Given the description of an element on the screen output the (x, y) to click on. 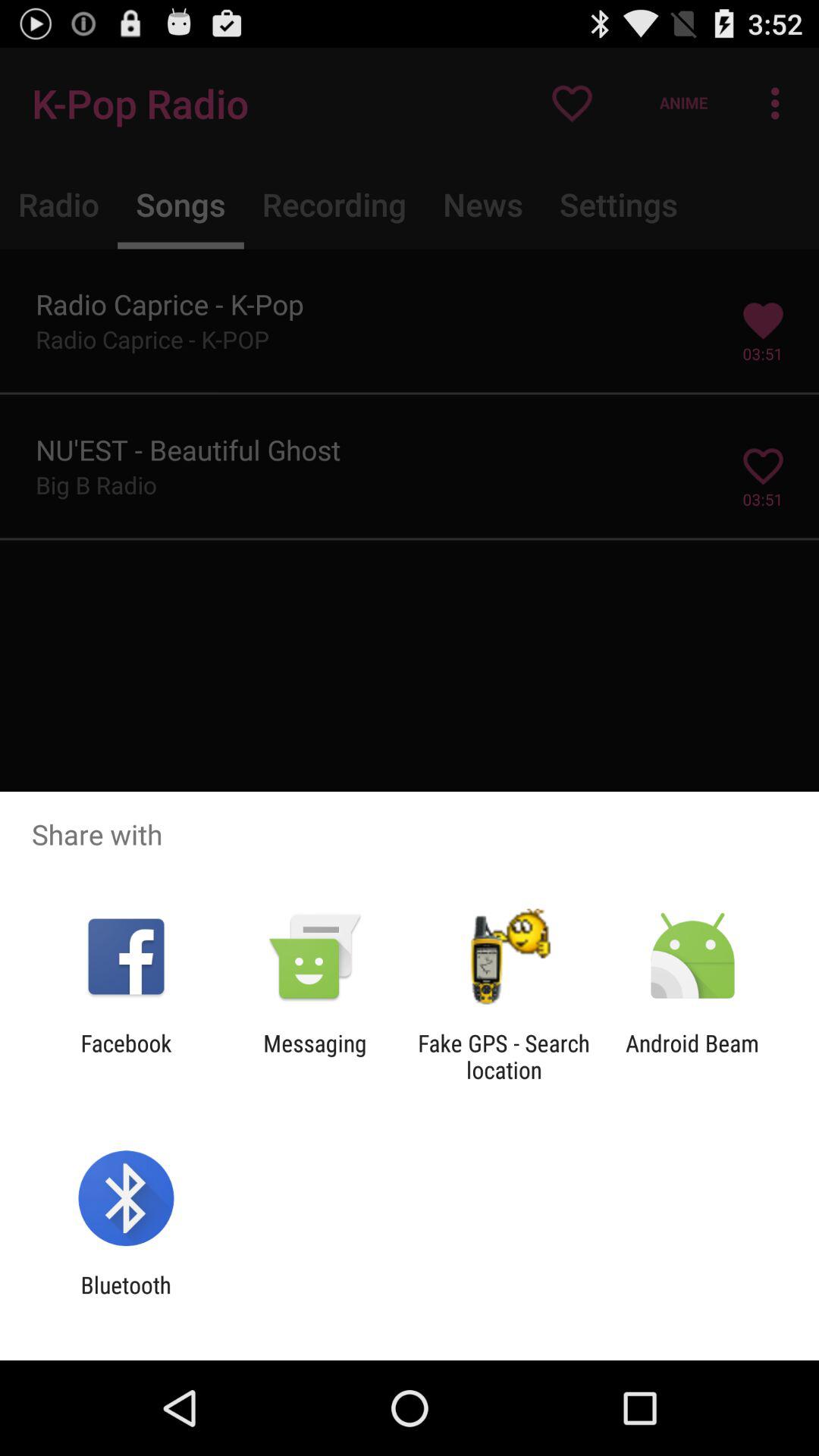
press app next to the messaging (503, 1056)
